Given the description of an element on the screen output the (x, y) to click on. 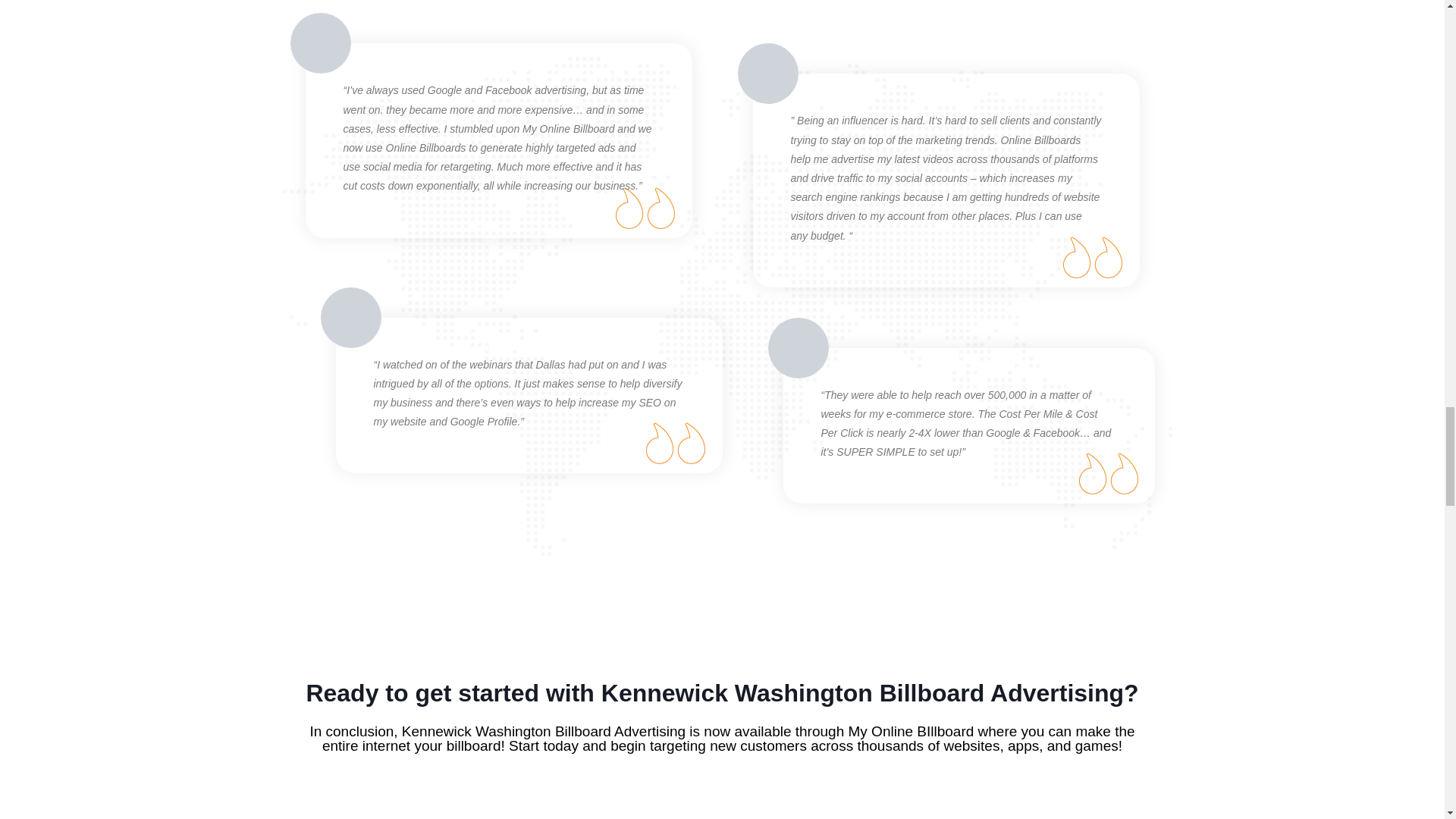
appa-img36.jpg (319, 43)
appa-img39.jpg (350, 317)
appa-img37.jpg (766, 73)
appa-img38.jpg (797, 347)
